Given the description of an element on the screen output the (x, y) to click on. 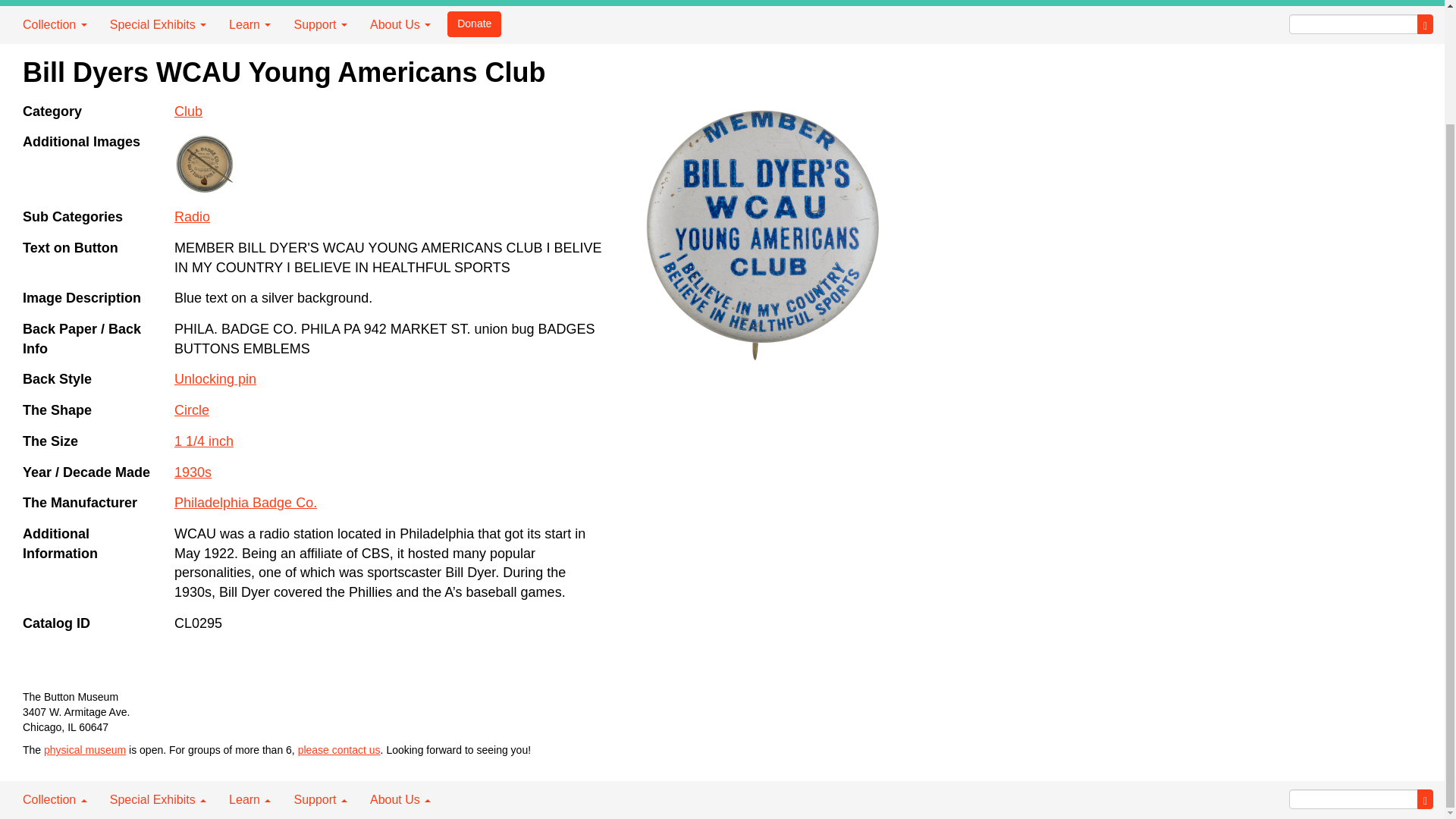
Special Exhibits (157, 24)
Learn (249, 24)
physical museum (84, 749)
Club (188, 111)
Radio (191, 216)
Philadelphia Badge Co. (245, 502)
Donate (473, 23)
Bill Dyers WCAU Young Americans Club button back (204, 164)
Circle (191, 409)
Unlocking pin (215, 378)
